Given the description of an element on the screen output the (x, y) to click on. 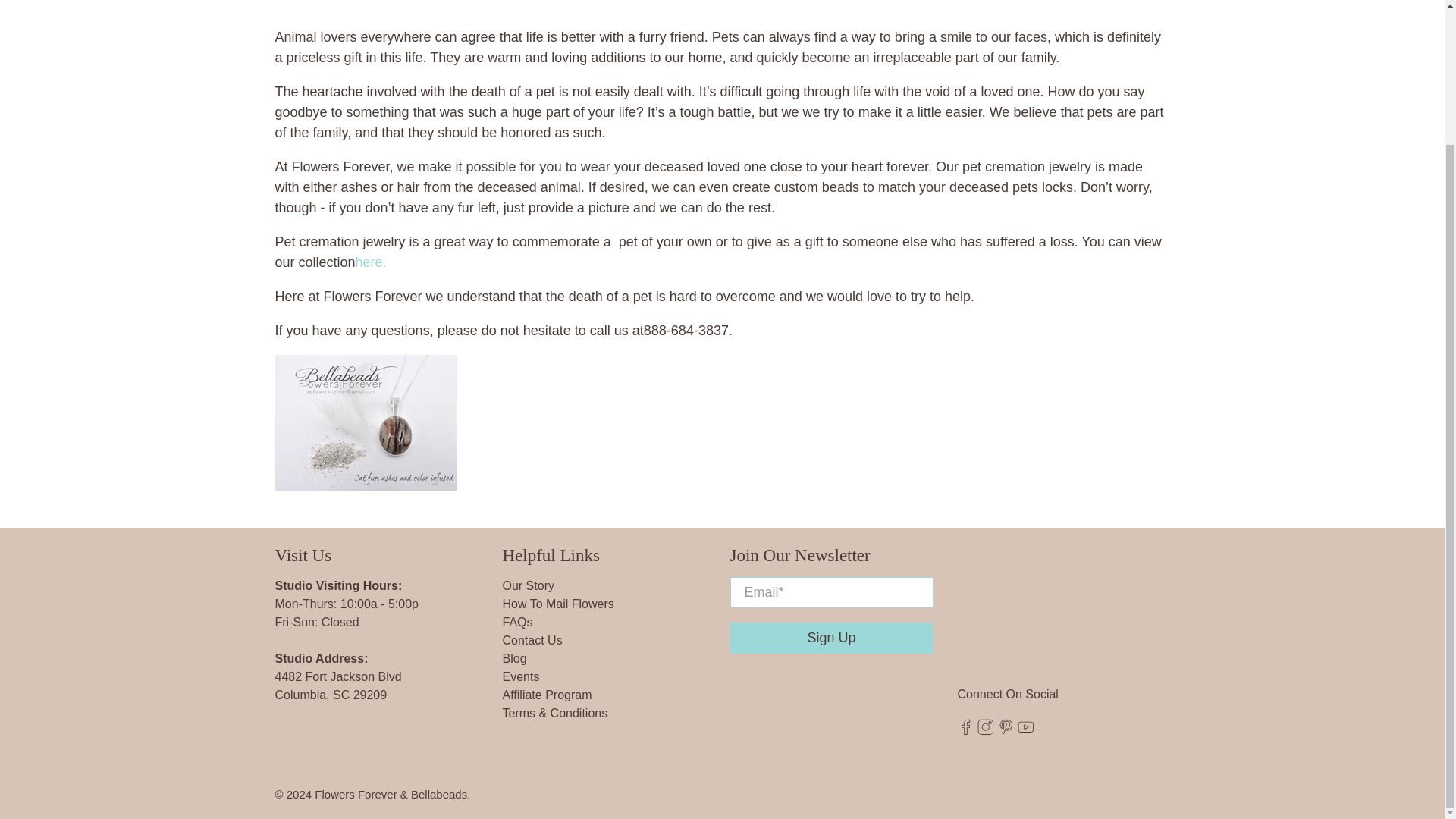
Columbia, SC 29209 (331, 694)
4482 Fort Jackson Blvd (338, 676)
here. (371, 262)
How To Mail Flowers (557, 603)
Our Story (527, 585)
